Given the description of an element on the screen output the (x, y) to click on. 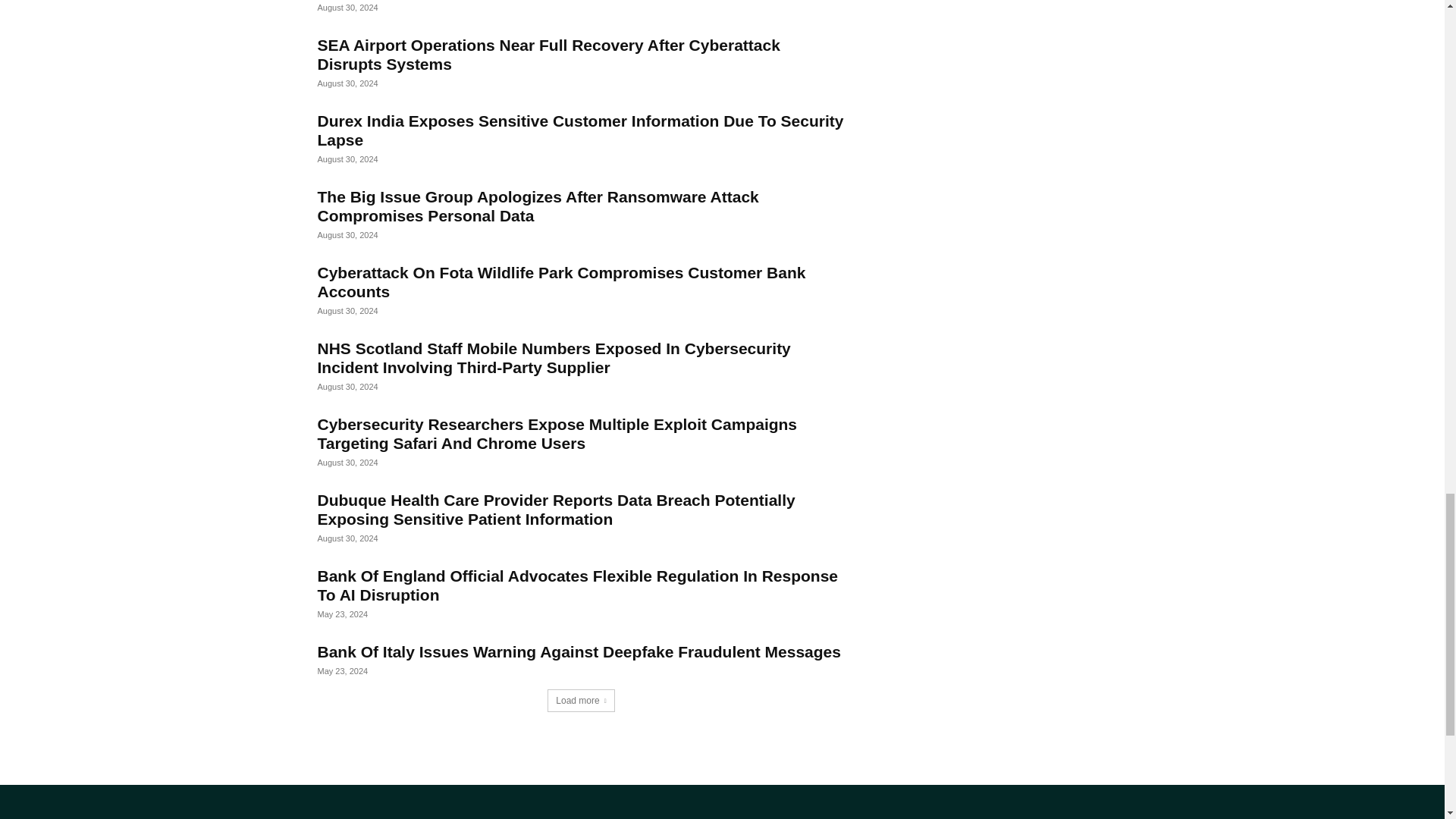
Load more (580, 700)
